Given the description of an element on the screen output the (x, y) to click on. 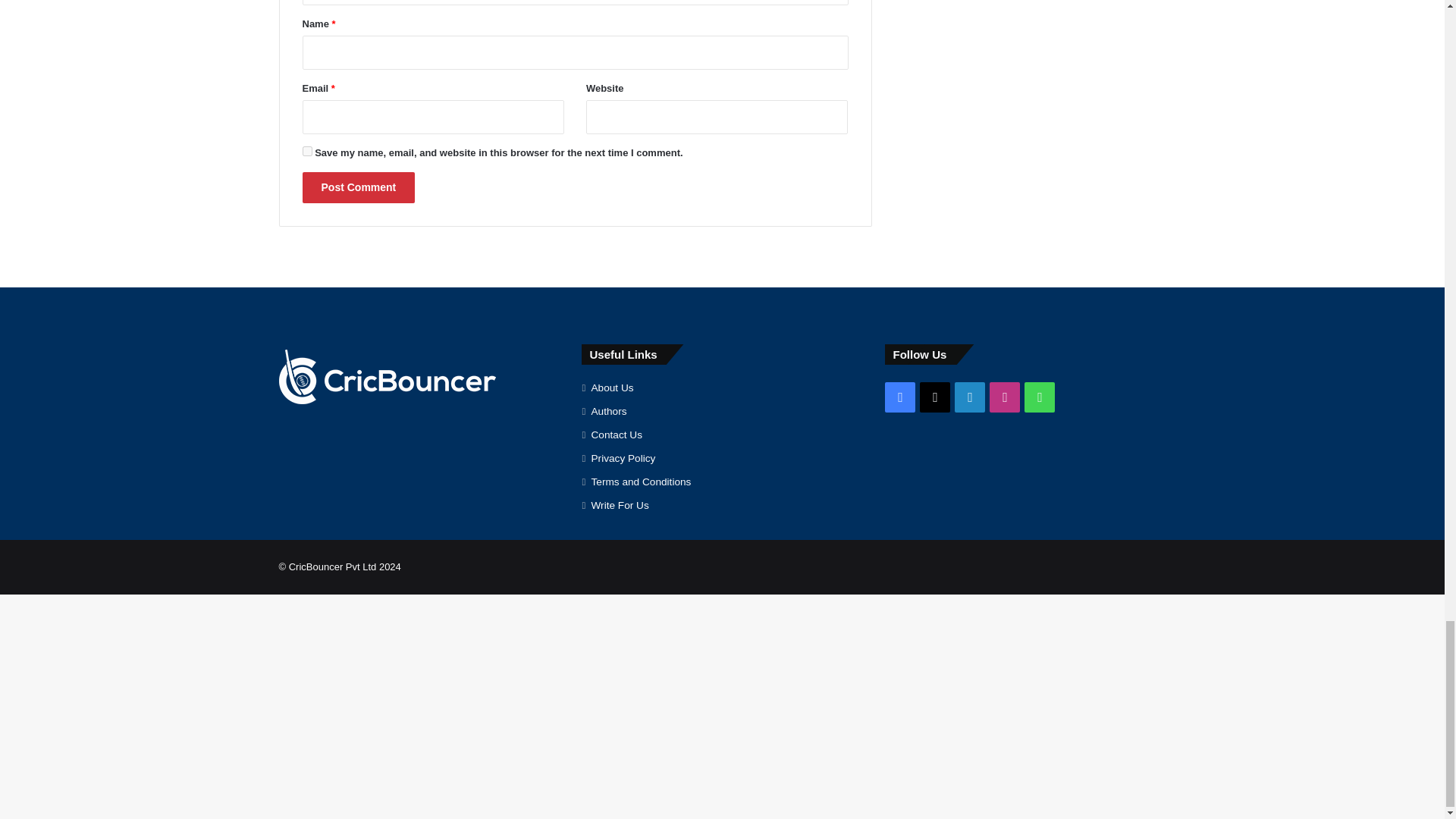
Post Comment (357, 187)
yes (306, 151)
Post Comment (357, 187)
